Given the description of an element on the screen output the (x, y) to click on. 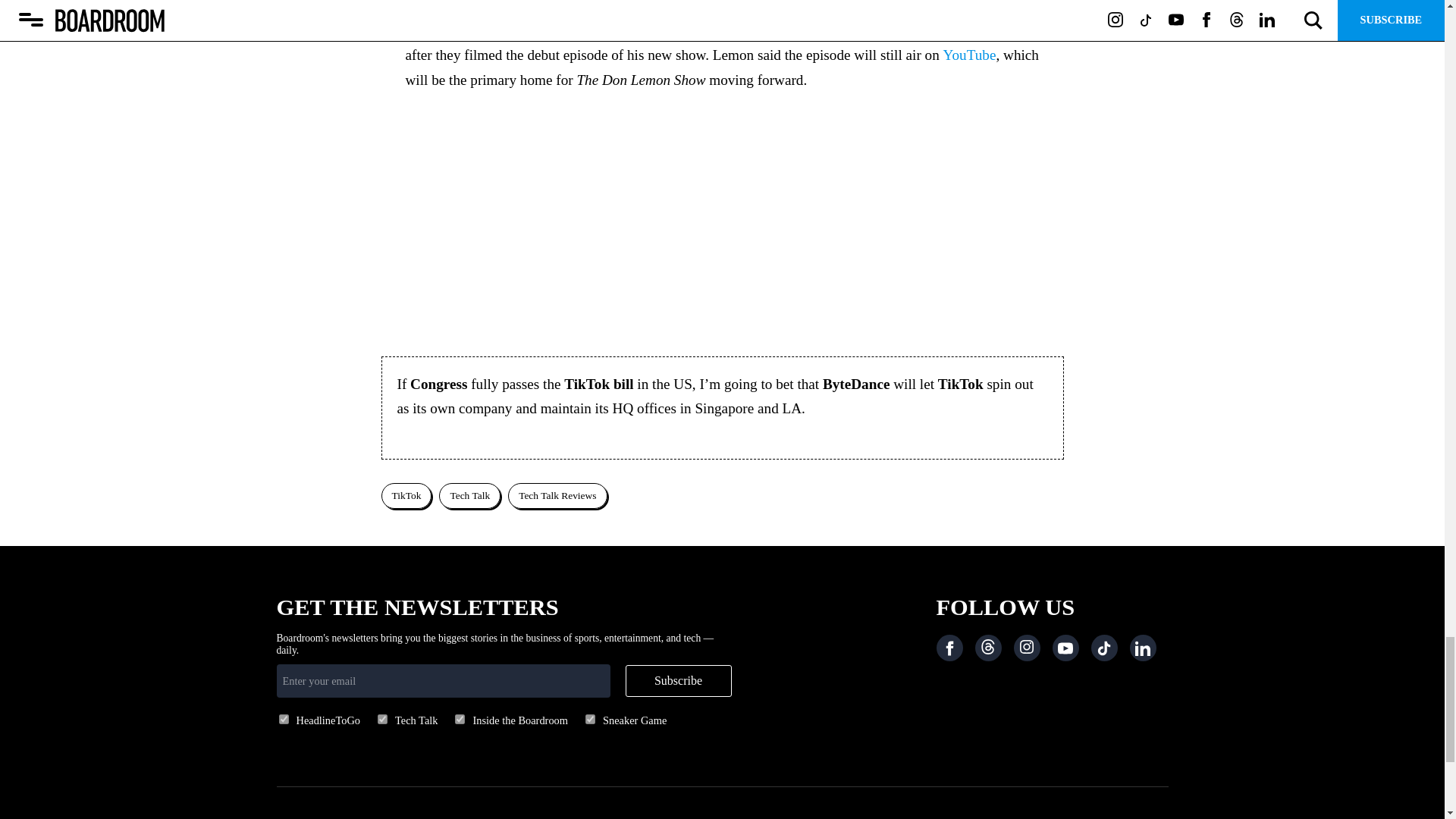
HeadlineToGo (283, 718)
Inside the Boardroom (459, 718)
Sneaker Game (590, 718)
Tech Talk (382, 718)
